Given the description of an element on the screen output the (x, y) to click on. 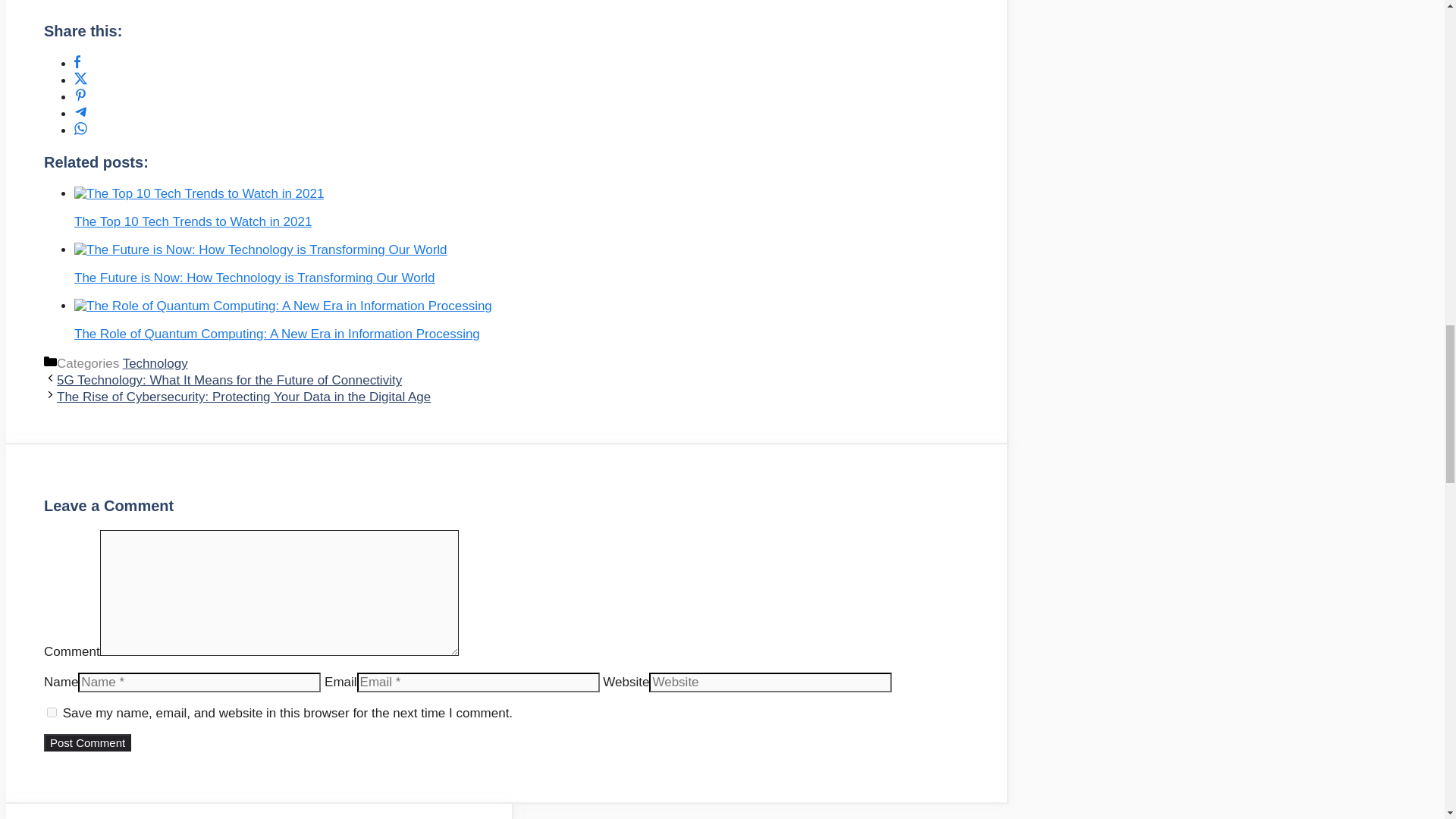
Whatsapp (80, 130)
The Top 10 Tech Trends to Watch in 2021 (198, 193)
The Top 10 Tech Trends to Watch in 2021 (192, 221)
Post Comment (87, 742)
Telegram Share (80, 114)
The Future is Now: How Technology is Transforming Our World (260, 249)
Pin this (80, 97)
Tweet this (80, 80)
Technology (154, 363)
The Future is Now: How Technology is Transforming Our World (254, 278)
yes (51, 712)
5G Technology: What It Means for the Future of Connectivity (228, 380)
Permalink to: The Top 10 Tech Trends to Watch in 2021 (198, 193)
